Given the description of an element on the screen output the (x, y) to click on. 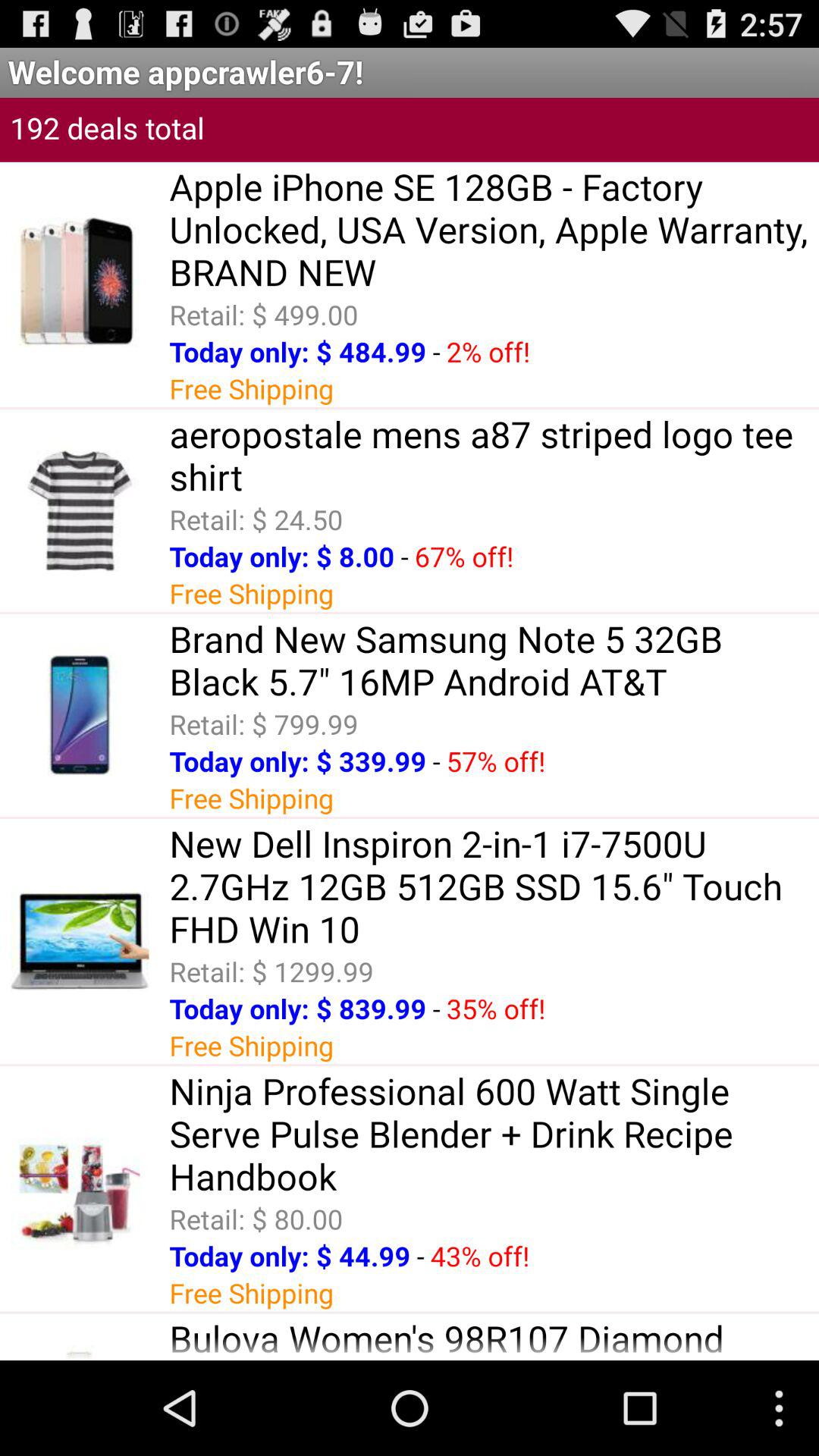
press the new dell inspiron app (494, 886)
